Given the description of an element on the screen output the (x, y) to click on. 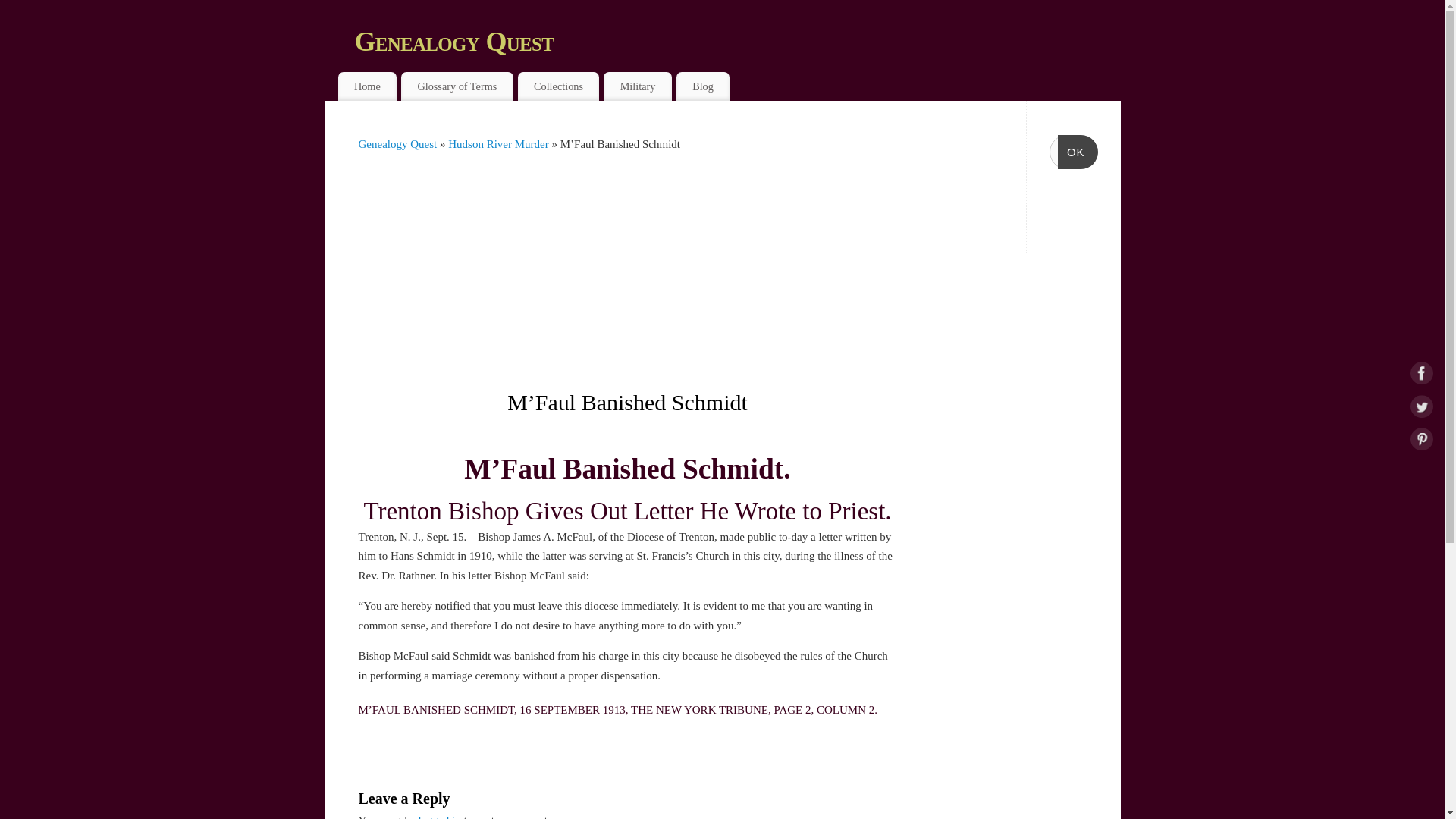
Home (367, 86)
Blog (703, 86)
Military (637, 86)
logged in (438, 816)
Genealogy Quest (397, 143)
Hudson River Murder (499, 143)
OK (1077, 151)
Advertisement (629, 273)
Genealogy Quest (738, 41)
Genealogy Quest (738, 41)
Collections (558, 86)
Glossary of Terms (457, 86)
